Given the description of an element on the screen output the (x, y) to click on. 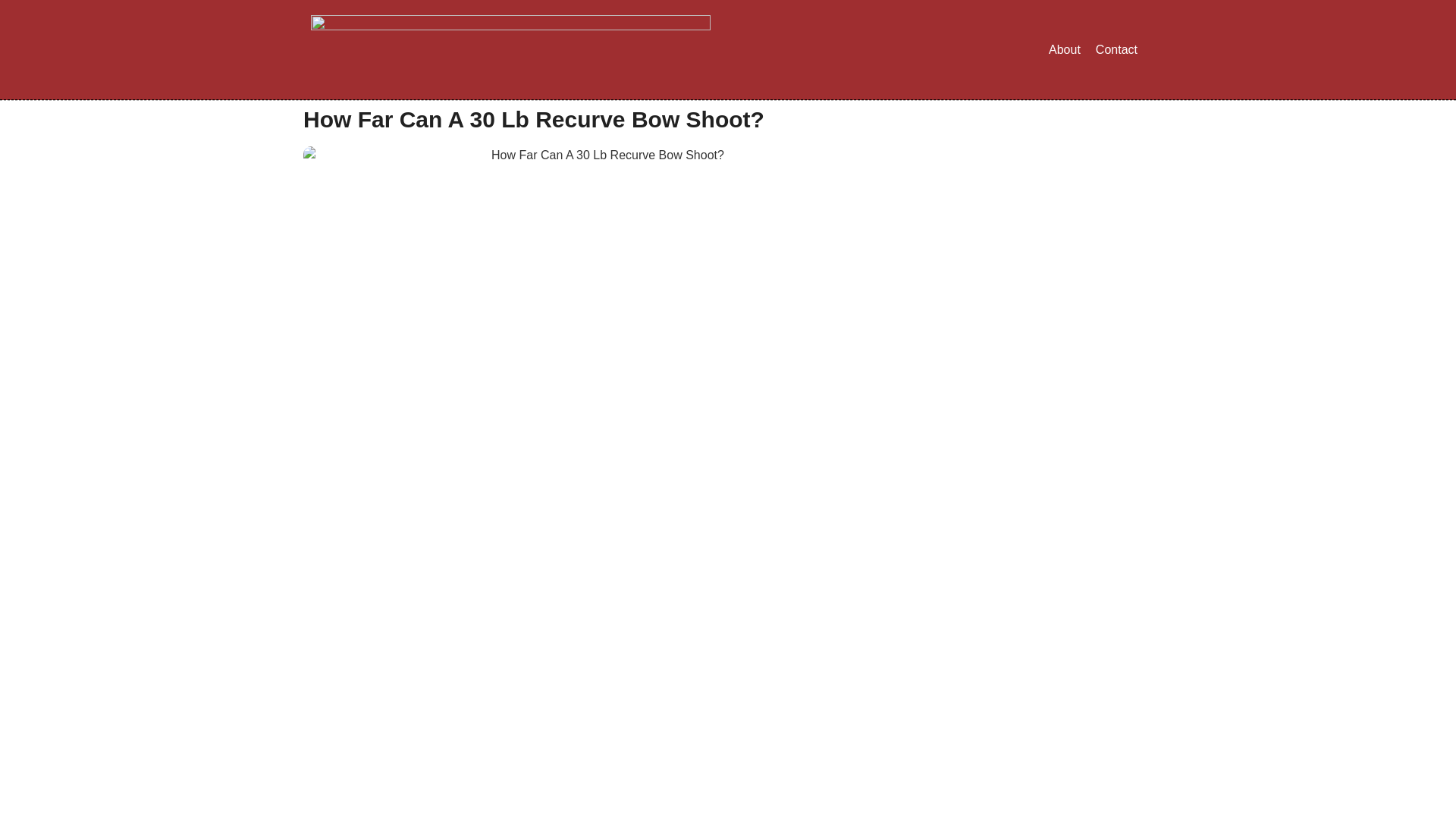
About (1064, 49)
Contact (1115, 49)
